Given the description of an element on the screen output the (x, y) to click on. 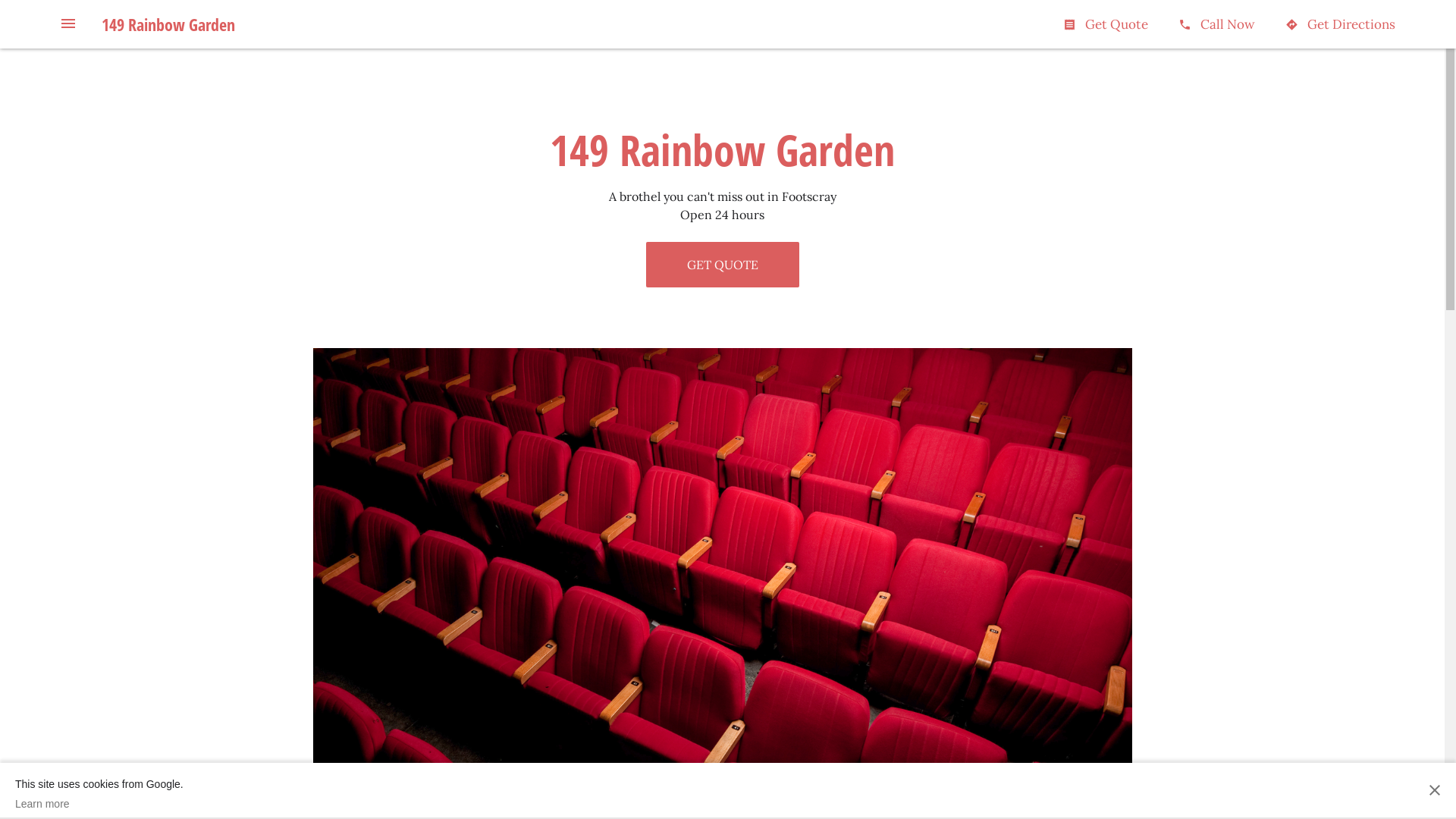
149 Rainbow Garden Element type: text (168, 23)
GET QUOTE Element type: text (722, 264)
Learn more Element type: text (99, 803)
